Given the description of an element on the screen output the (x, y) to click on. 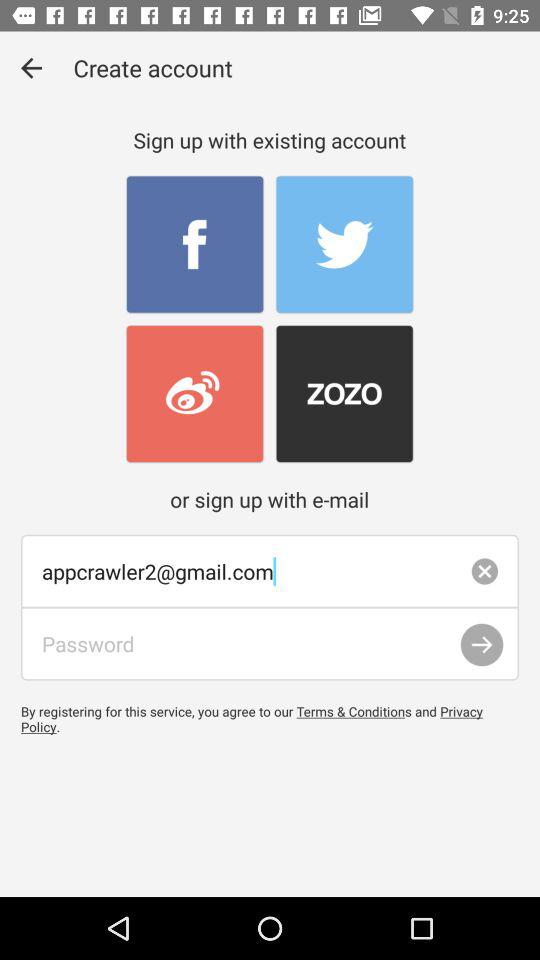
turn off icon above appcrawler2@gmail.com icon (31, 68)
